Given the description of an element on the screen output the (x, y) to click on. 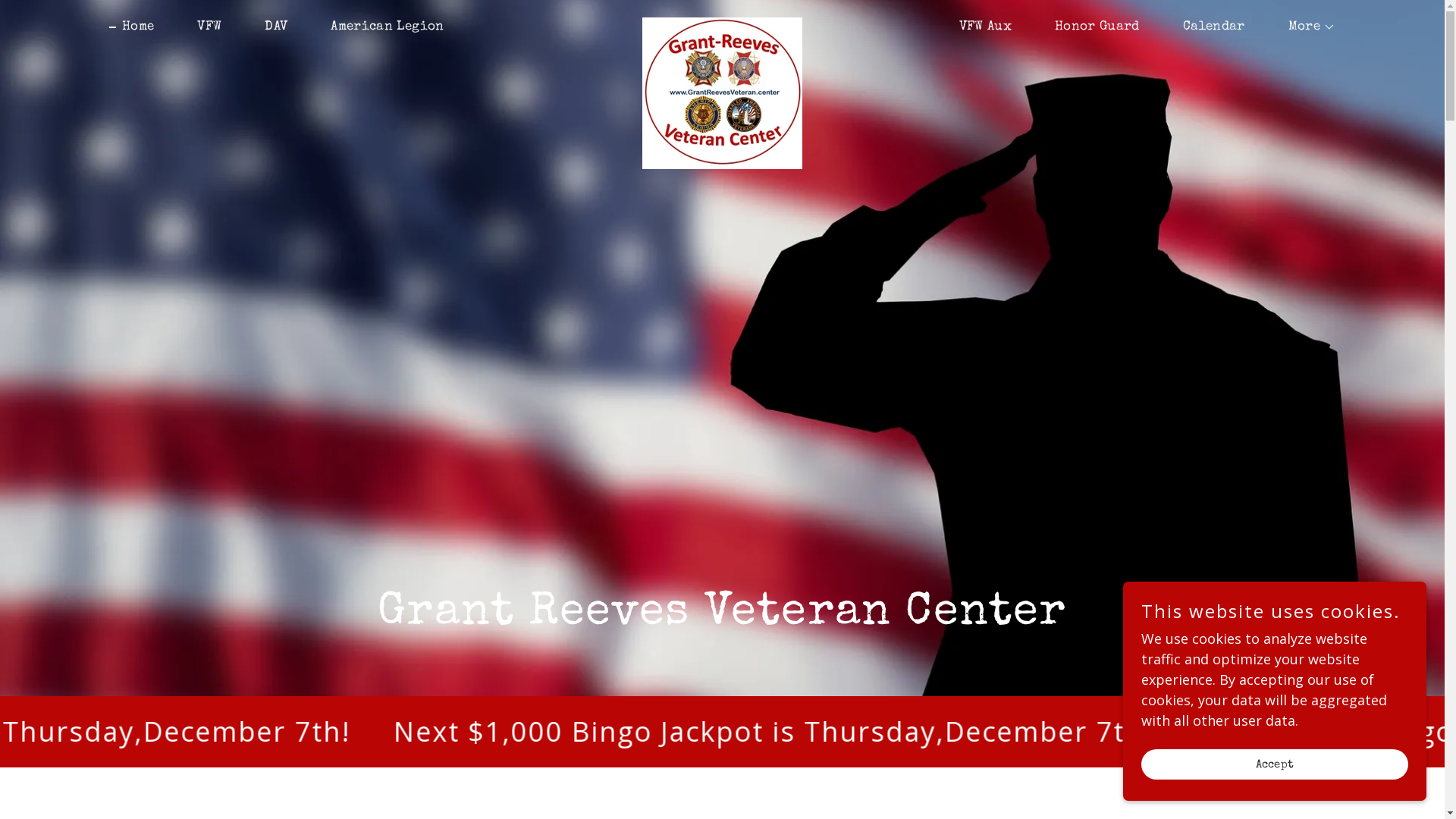
Grant Reeves Veteran Center Element type: hover (721, 24)
American Legion Element type: text (380, 26)
Accept Element type: text (1274, 764)
DAV Element type: text (269, 26)
VFW Element type: text (202, 26)
Home Element type: text (131, 27)
Calendar Element type: text (1207, 26)
More Element type: text (1305, 27)
VFW Aux Element type: text (978, 26)
Honor Guard Element type: text (1090, 26)
